Given the description of an element on the screen output the (x, y) to click on. 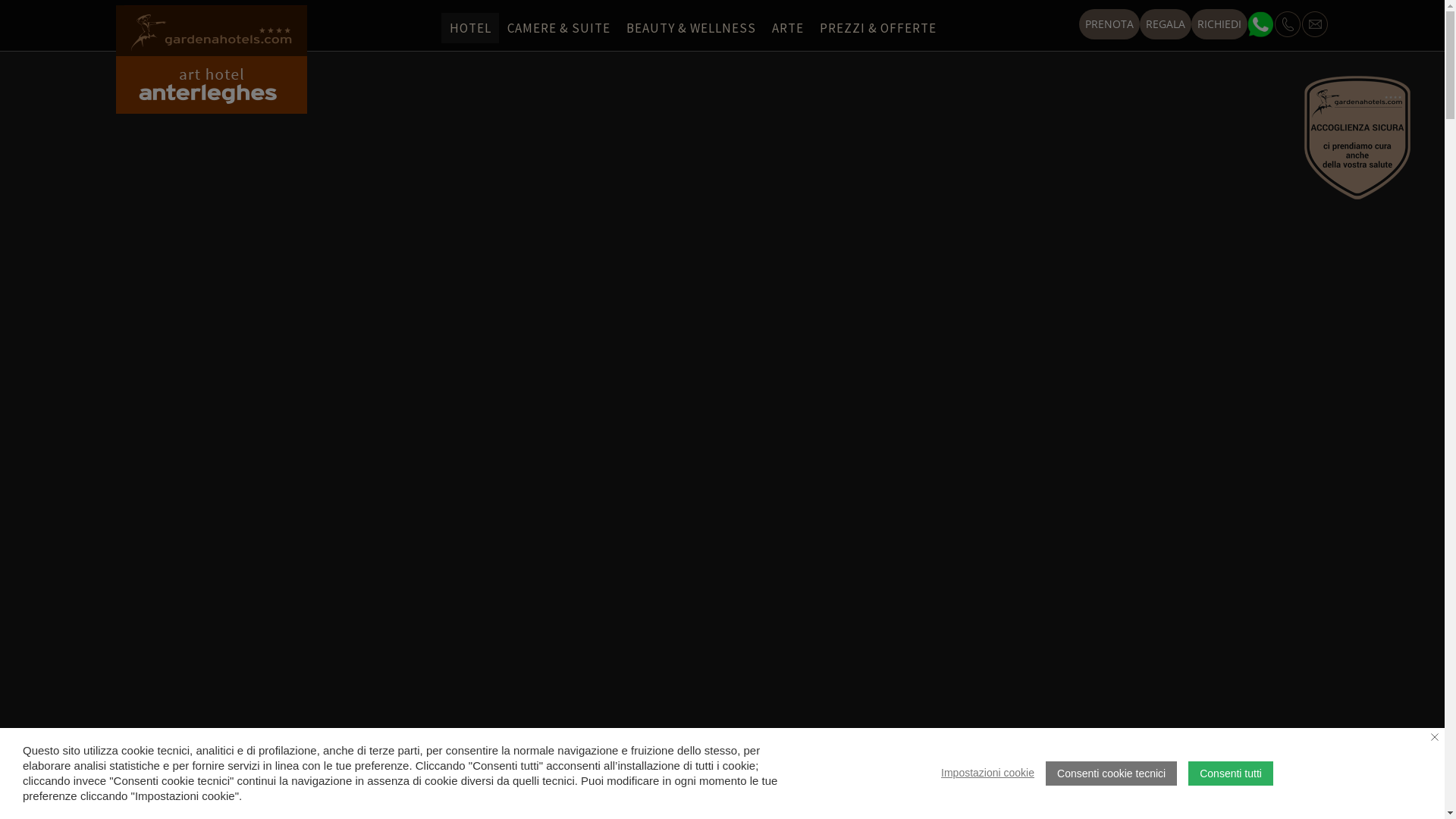
RICHIEDI Element type: text (1218, 24)
Consenti cookie tecnici Element type: text (1110, 773)
REGALA Element type: text (1164, 24)
PREZZI & OFFERTE Element type: text (877, 27)
CAMERE & SUITE Element type: text (558, 27)
ARTE Element type: text (787, 27)
Consenti tutti Element type: text (1230, 773)
PRENOTA Element type: text (1108, 24)
BEAUTY & WELLNESS Element type: text (690, 27)
Impostazioni cookie Element type: text (987, 773)
HOTEL Element type: text (469, 27)
Home Element type: hover (210, 30)
